Given the description of an element on the screen output the (x, y) to click on. 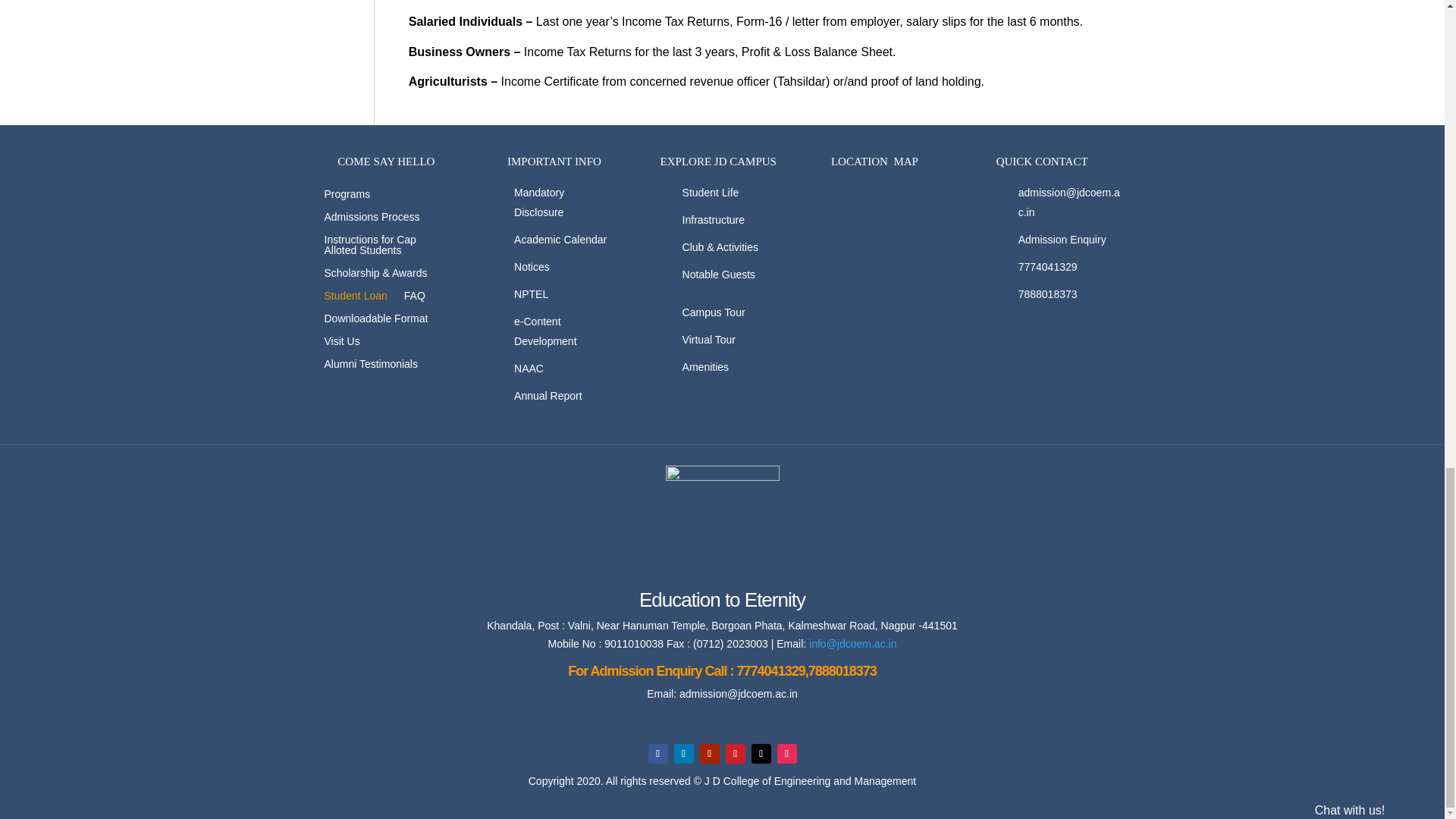
Follow on X (760, 753)
Follow on Pinterest (734, 753)
Follow on Instagram (786, 753)
Follow on Youtube (708, 753)
Follow on LinkedIn (682, 753)
Follow on Facebook (656, 753)
